Given the description of an element on the screen output the (x, y) to click on. 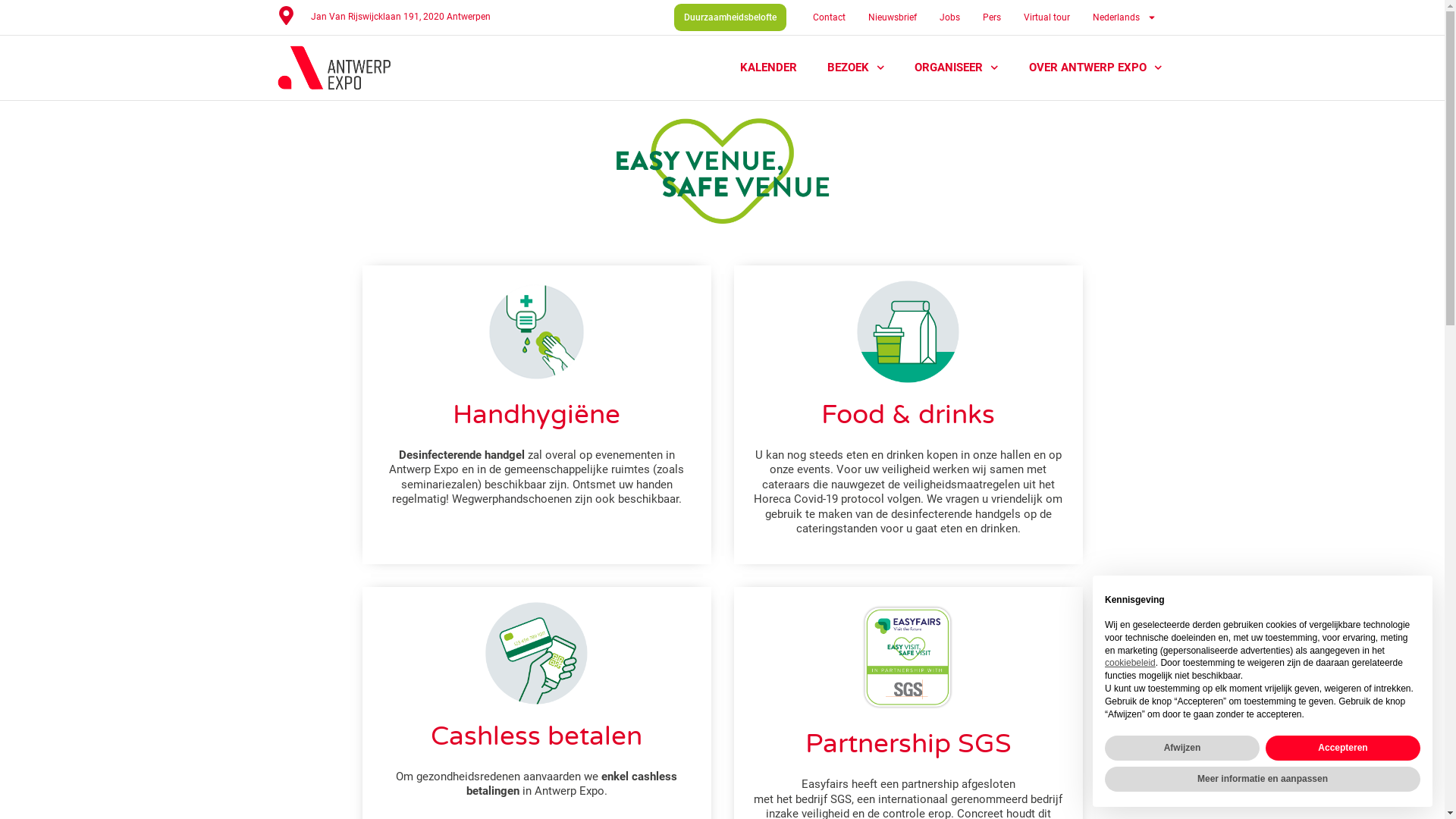
Afwijzen Element type: text (1181, 747)
ORGANISEER Element type: text (956, 67)
Contact Element type: text (828, 17)
Meer informatie en aanpassen Element type: text (1262, 778)
BEZOEK Element type: text (856, 67)
Jobs Element type: text (949, 17)
Accepteren Element type: text (1342, 747)
Pers Element type: text (991, 17)
Nieuwsbrief Element type: text (892, 17)
Nederlands Element type: text (1124, 17)
Virtual tour Element type: text (1046, 17)
Duurzaamheidsbelofte Element type: text (730, 17)
OVER ANTWERP EXPO Element type: text (1095, 67)
KALENDER Element type: text (768, 67)
cookiebeleid Element type: text (1129, 662)
